Given the description of an element on the screen output the (x, y) to click on. 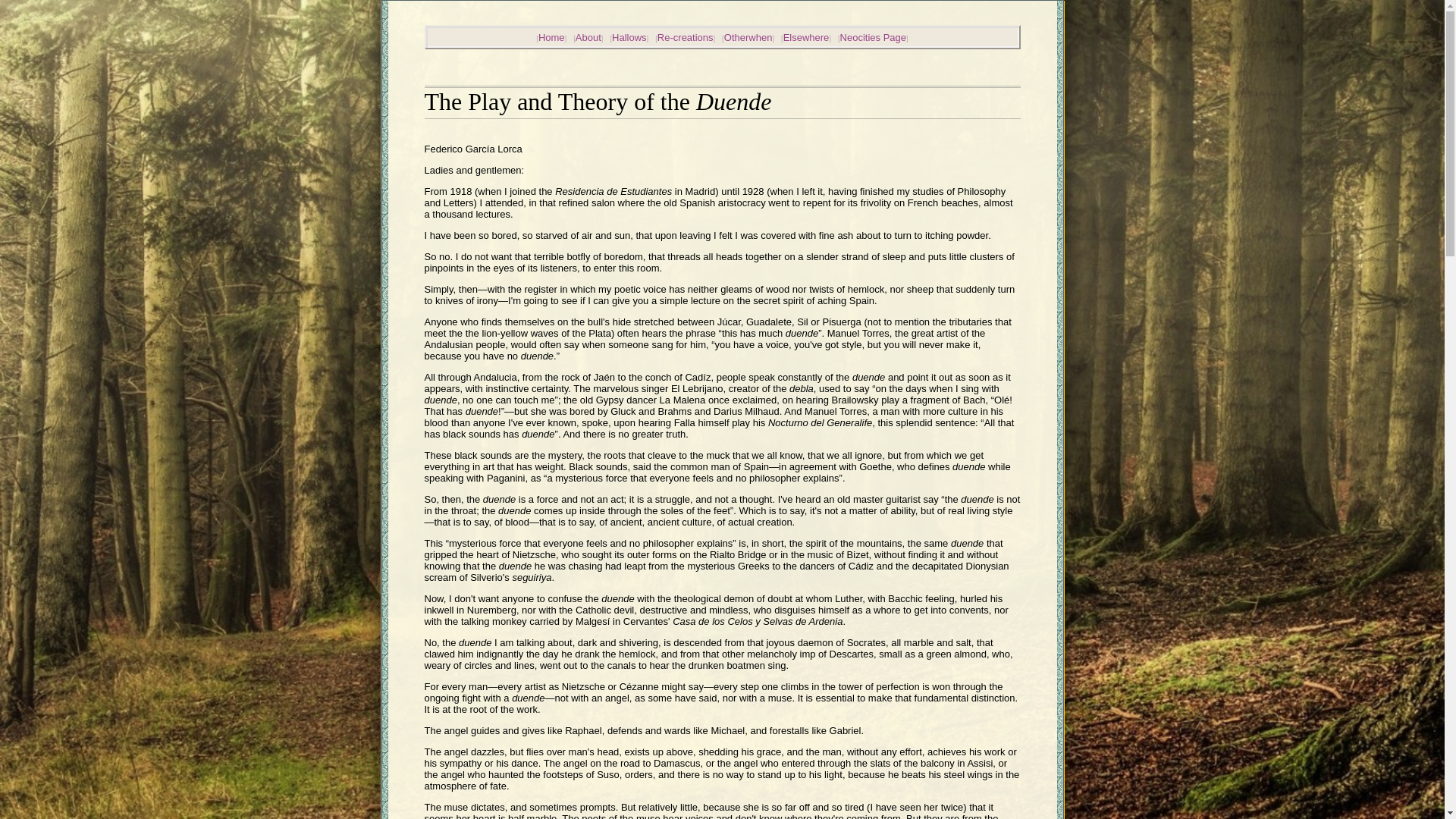
Home (551, 37)
About (588, 37)
Elsewhere (806, 37)
Otherwhen (748, 37)
Re-creations (685, 37)
Hallows (628, 37)
Neocities Page (872, 37)
